Given the description of an element on the screen output the (x, y) to click on. 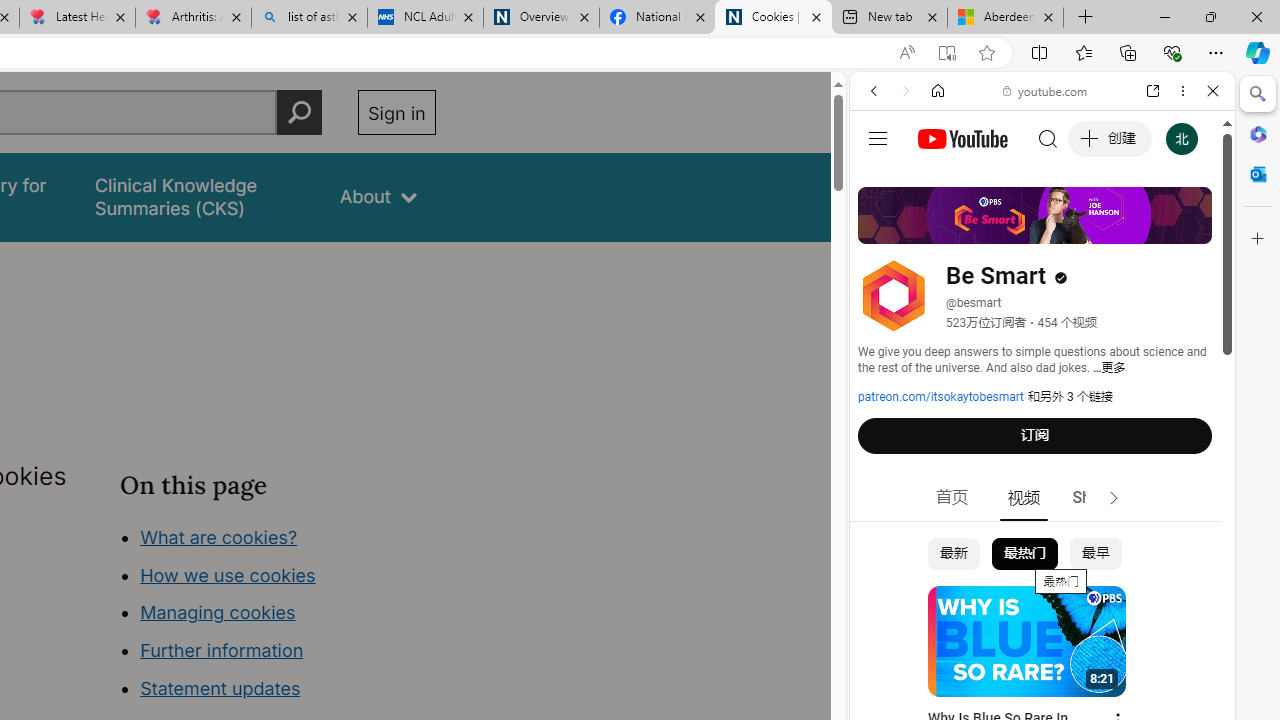
Google (1042, 494)
Shorts (1096, 497)
WEB   (882, 228)
false (198, 196)
Trailer #2 [HD] (1042, 594)
